Given the description of an element on the screen output the (x, y) to click on. 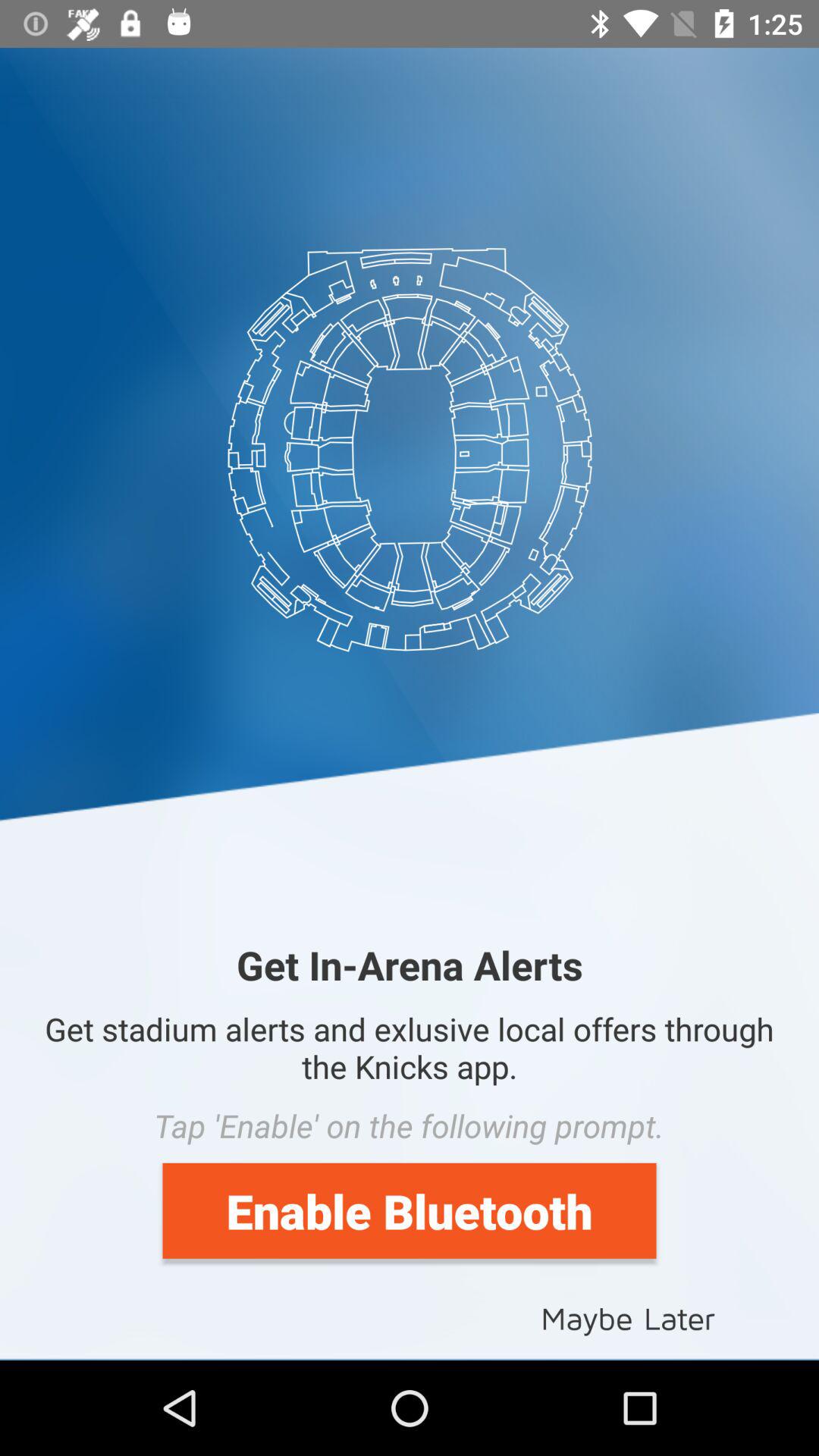
select the item above the maybe later item (409, 1210)
